Given the description of an element on the screen output the (x, y) to click on. 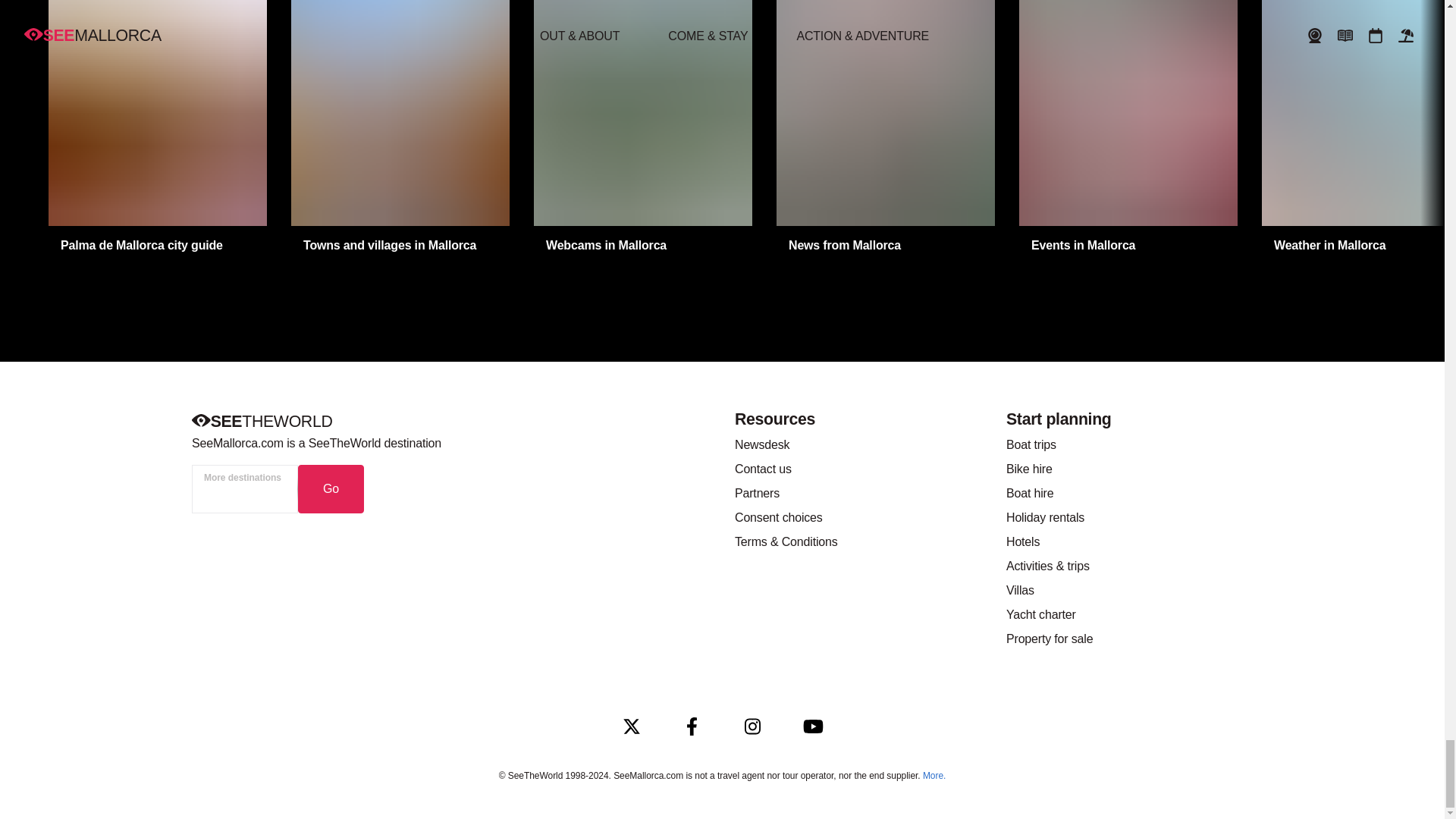
Follow SeeMallorca.com on X (630, 726)
Follow SeeMallorca.com on Facebook (691, 726)
Follow SeeMallorca.com on Instagram (751, 726)
Follow SeeMallorca.com on YouTube (812, 726)
SeeTheWorld.com (260, 422)
